Given the description of an element on the screen output the (x, y) to click on. 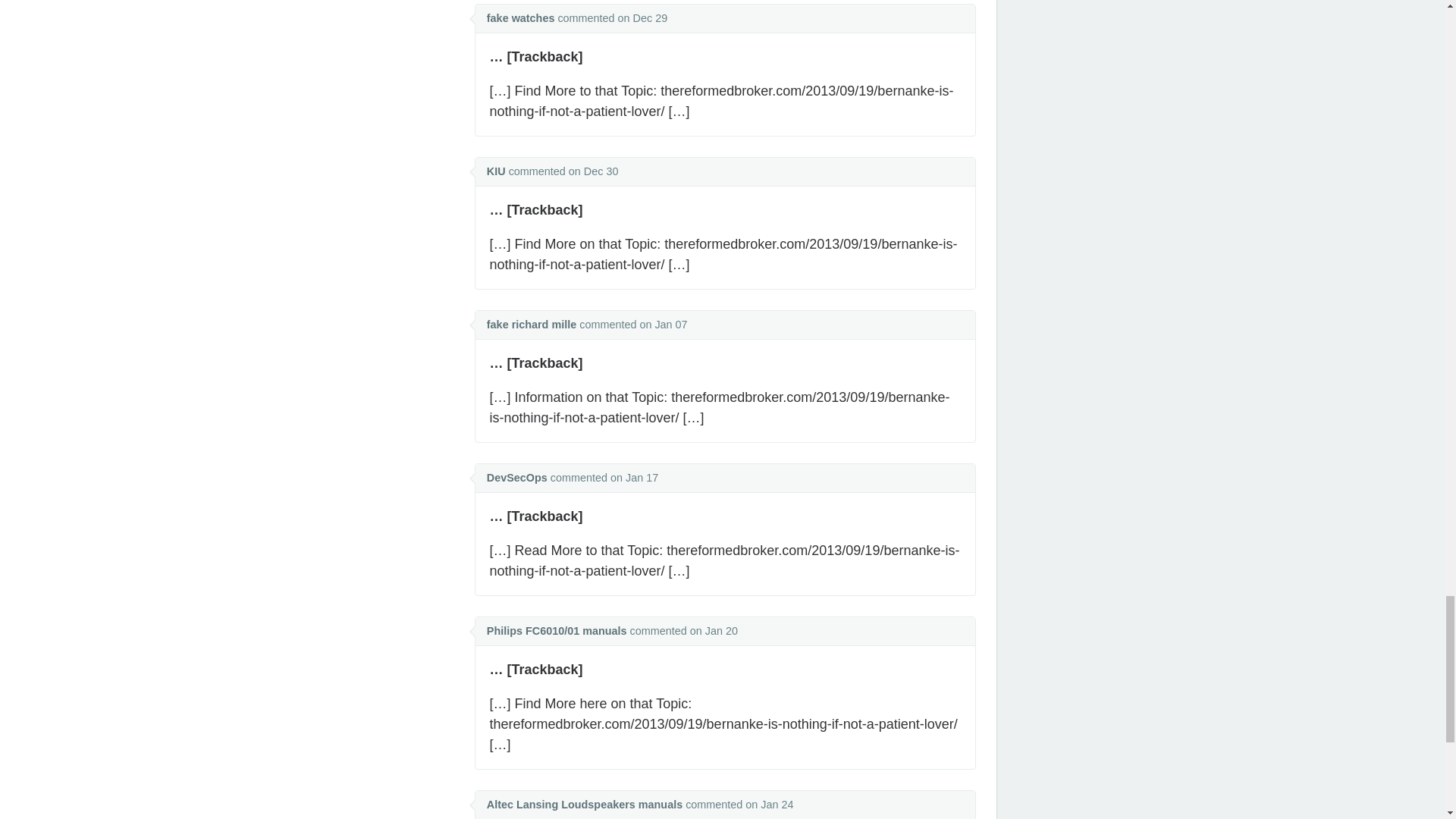
fake richard mille (531, 324)
KIU (495, 171)
fake watches (520, 18)
DevSecOps (516, 477)
